Given the description of an element on the screen output the (x, y) to click on. 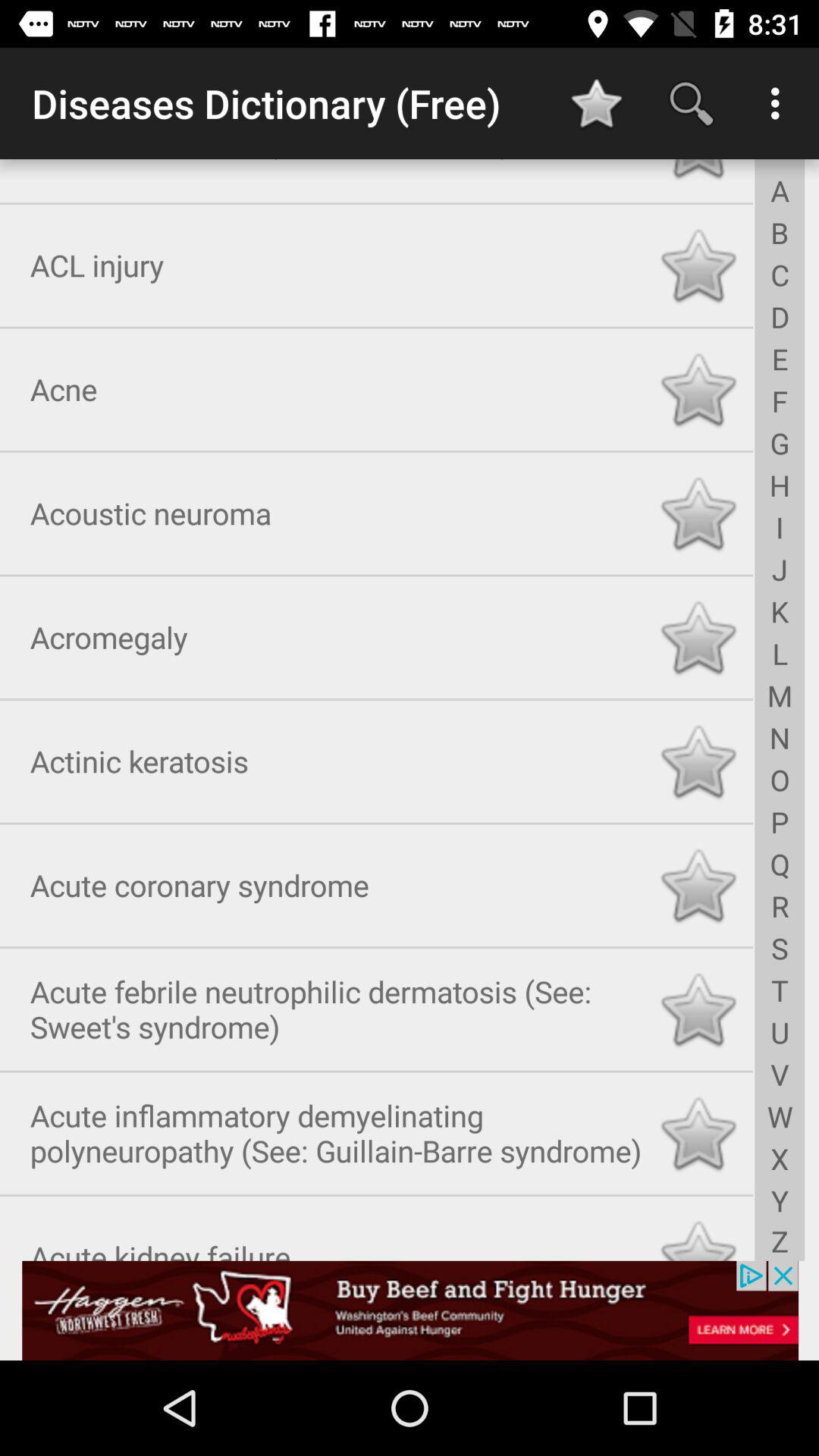
star (697, 1130)
